Given the description of an element on the screen output the (x, y) to click on. 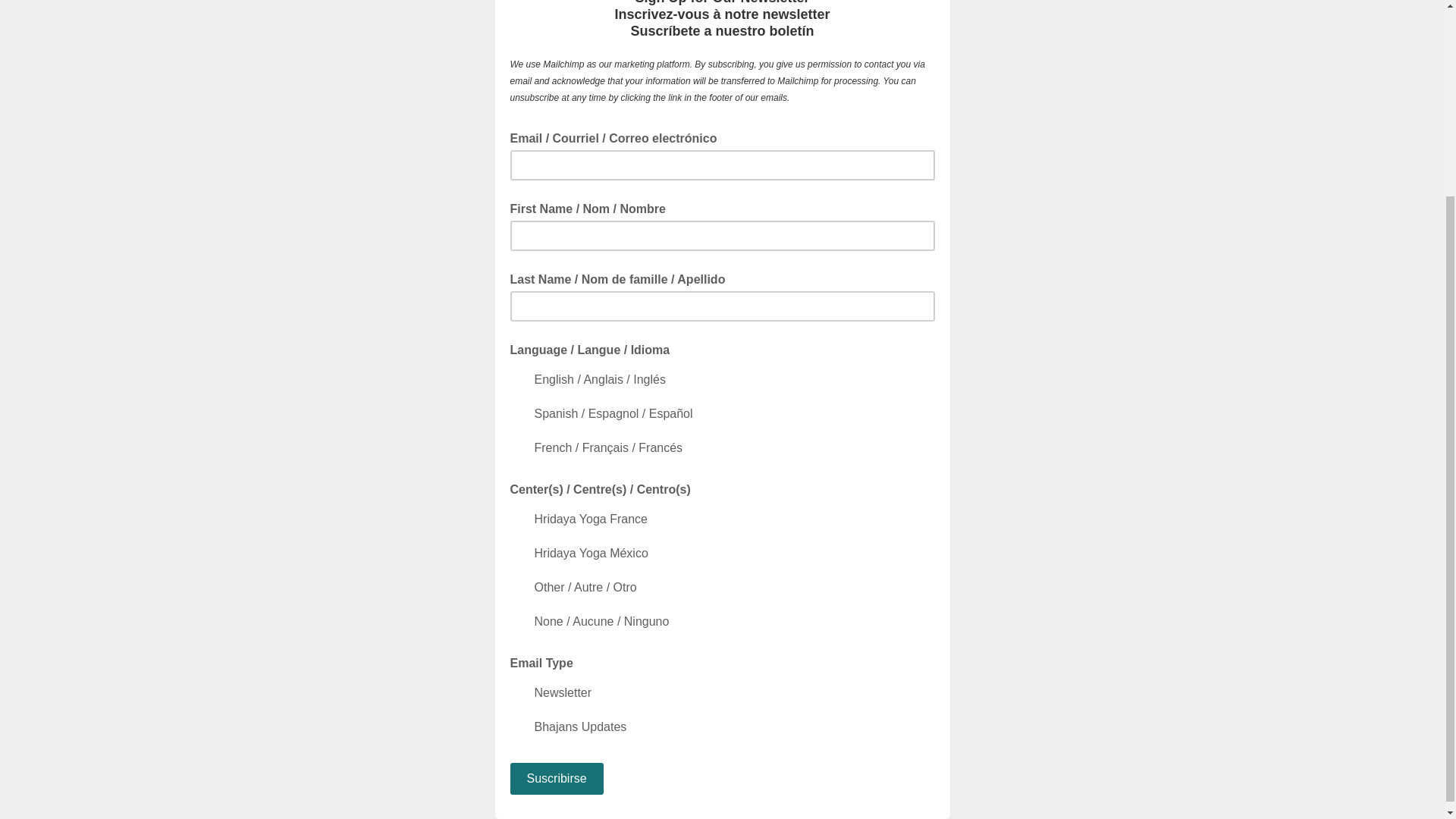
Suscribirse (555, 778)
Suscribirse (555, 778)
